Given the description of an element on the screen output the (x, y) to click on. 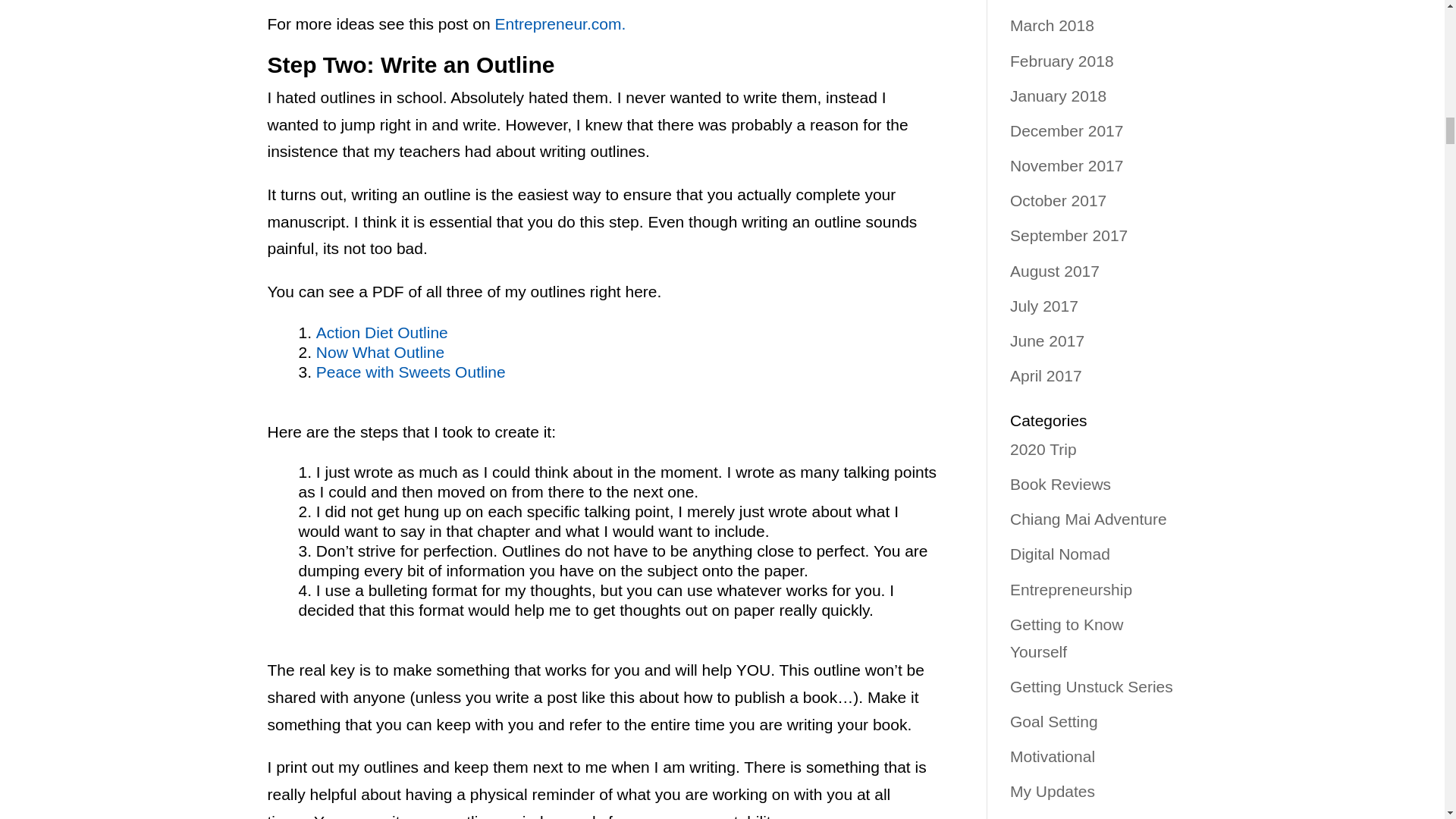
Entrepreneur.com. (560, 23)
Now What Outline (379, 352)
Peace with Sweets Outline (410, 371)
Action Diet Outline (381, 332)
